Given the description of an element on the screen output the (x, y) to click on. 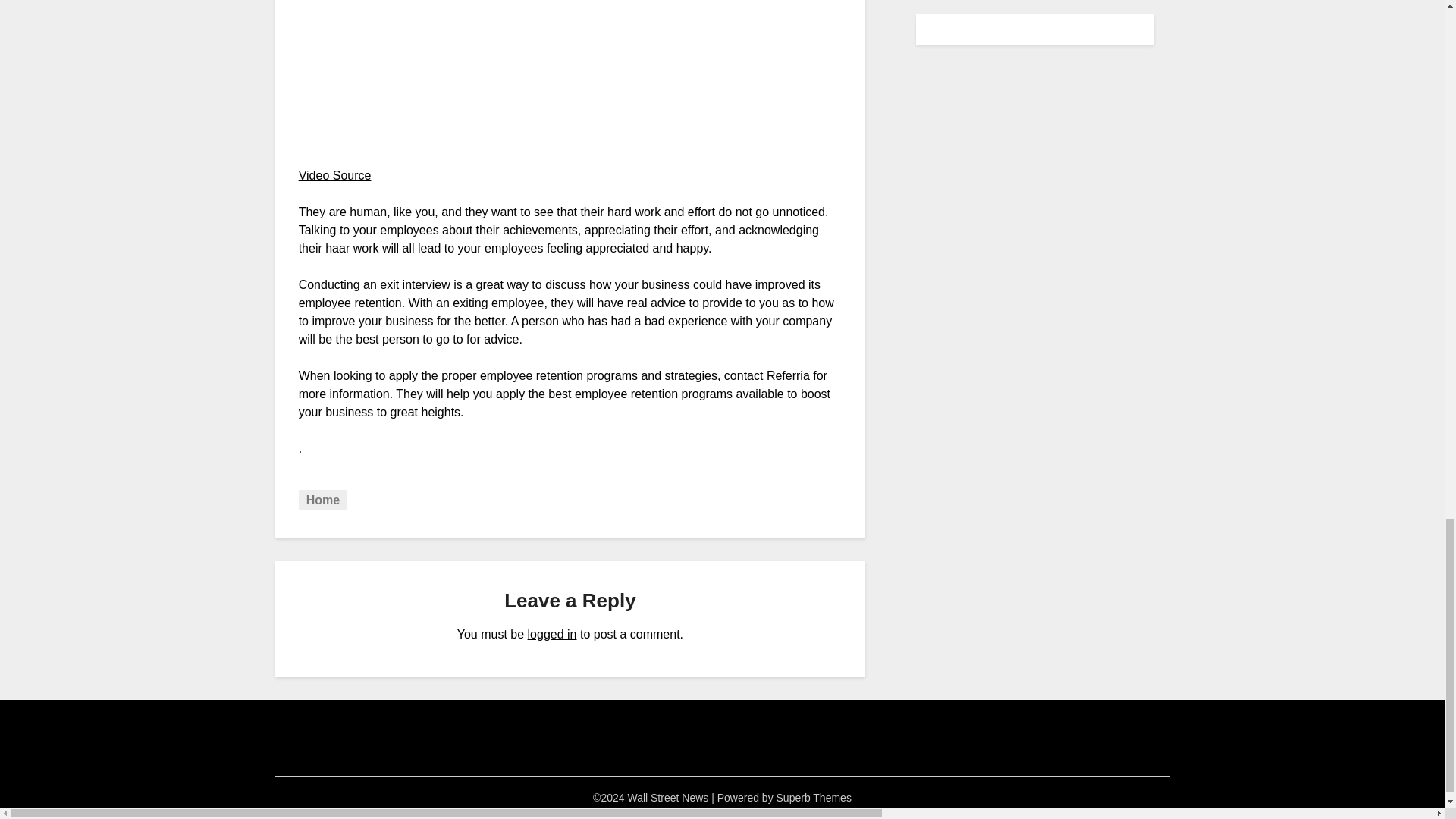
logged in (551, 634)
Superb Themes (813, 797)
Video Source (334, 174)
Home (322, 499)
